Given the description of an element on the screen output the (x, y) to click on. 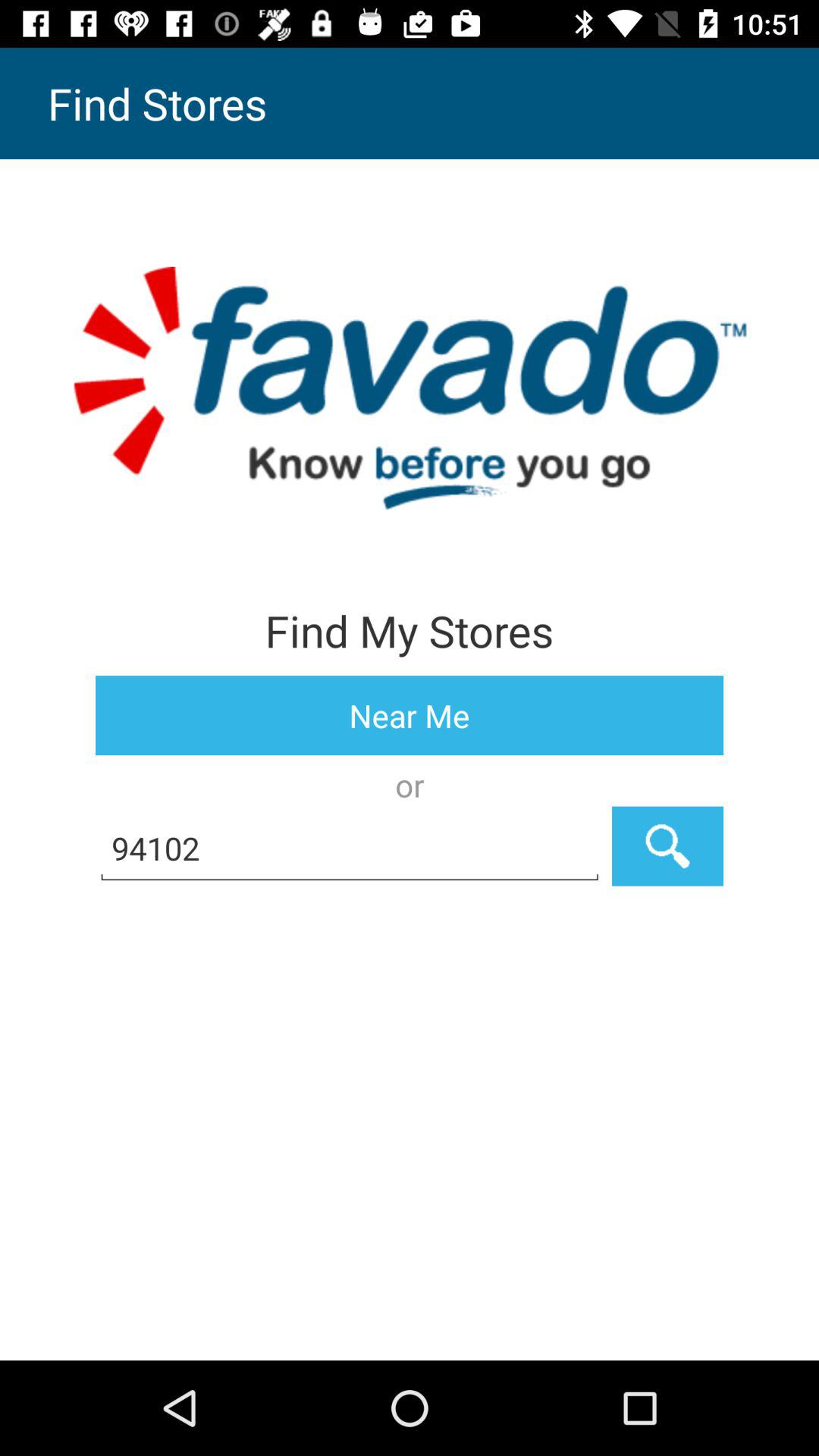
open icon on the right (667, 846)
